Given the description of an element on the screen output the (x, y) to click on. 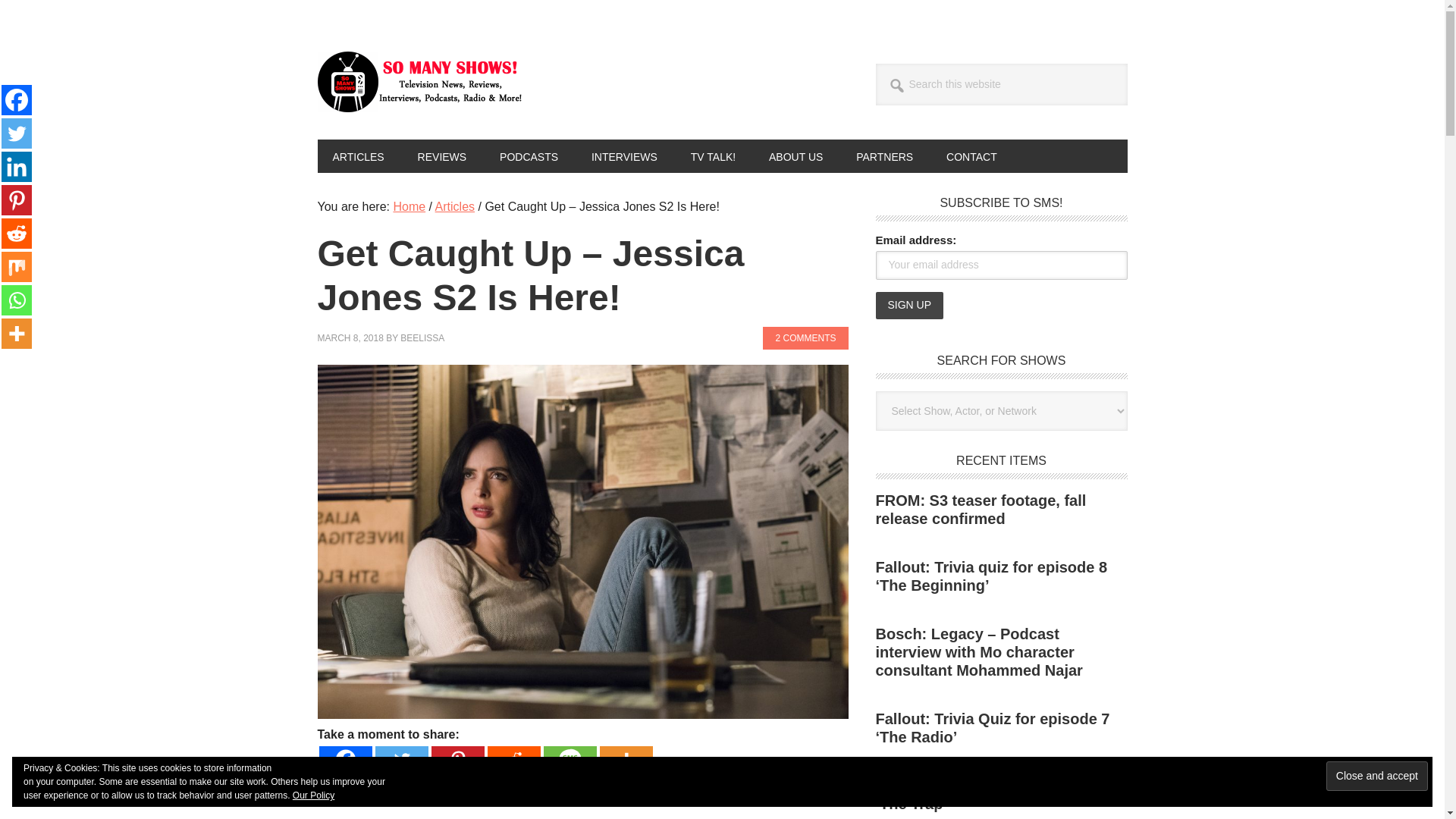
Reddit (513, 759)
Home (409, 205)
Twitter (401, 759)
BEELISSA (422, 337)
REVIEWS (442, 155)
INTERVIEWS (624, 155)
More (625, 759)
Facebook (16, 100)
Sign up (909, 305)
Pinterest (456, 759)
